Given the description of an element on the screen output the (x, y) to click on. 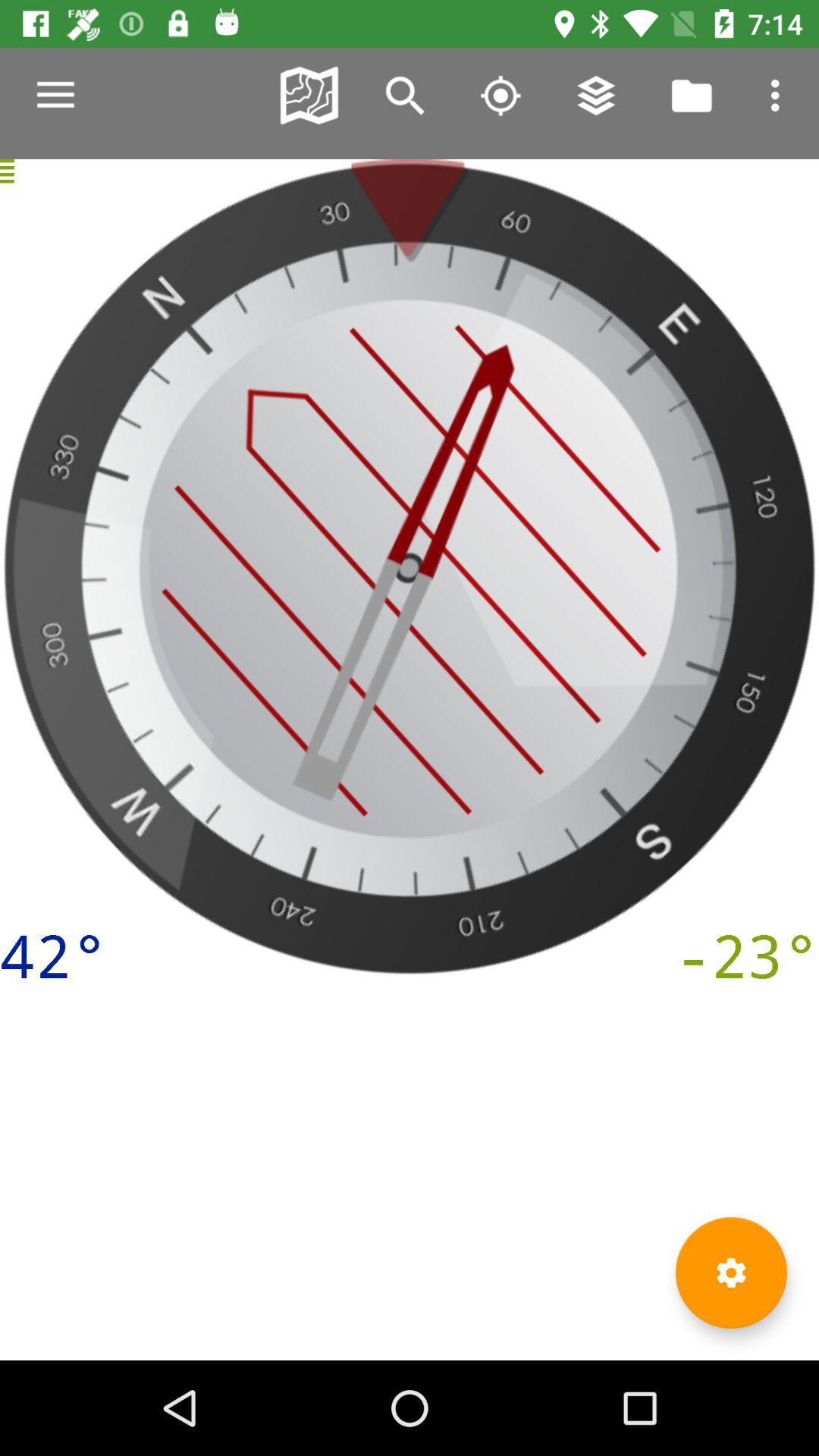
settings icon (731, 1272)
